Given the description of an element on the screen output the (x, y) to click on. 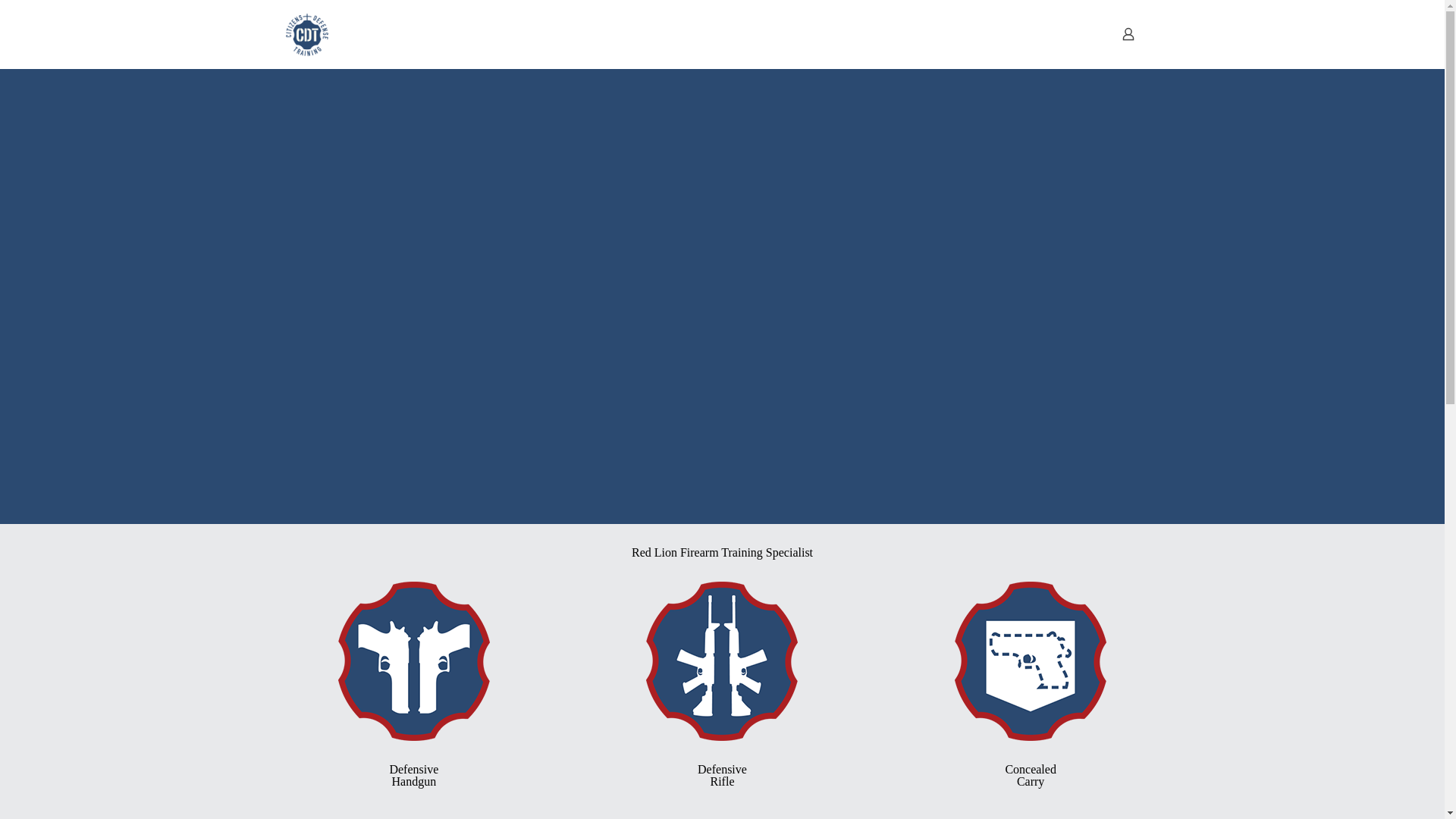
Home (512, 33)
About (575, 33)
Reviews (1030, 682)
Our Courses (721, 682)
Upcoming Courses (644, 33)
Contact (413, 682)
